Given the description of an element on the screen output the (x, y) to click on. 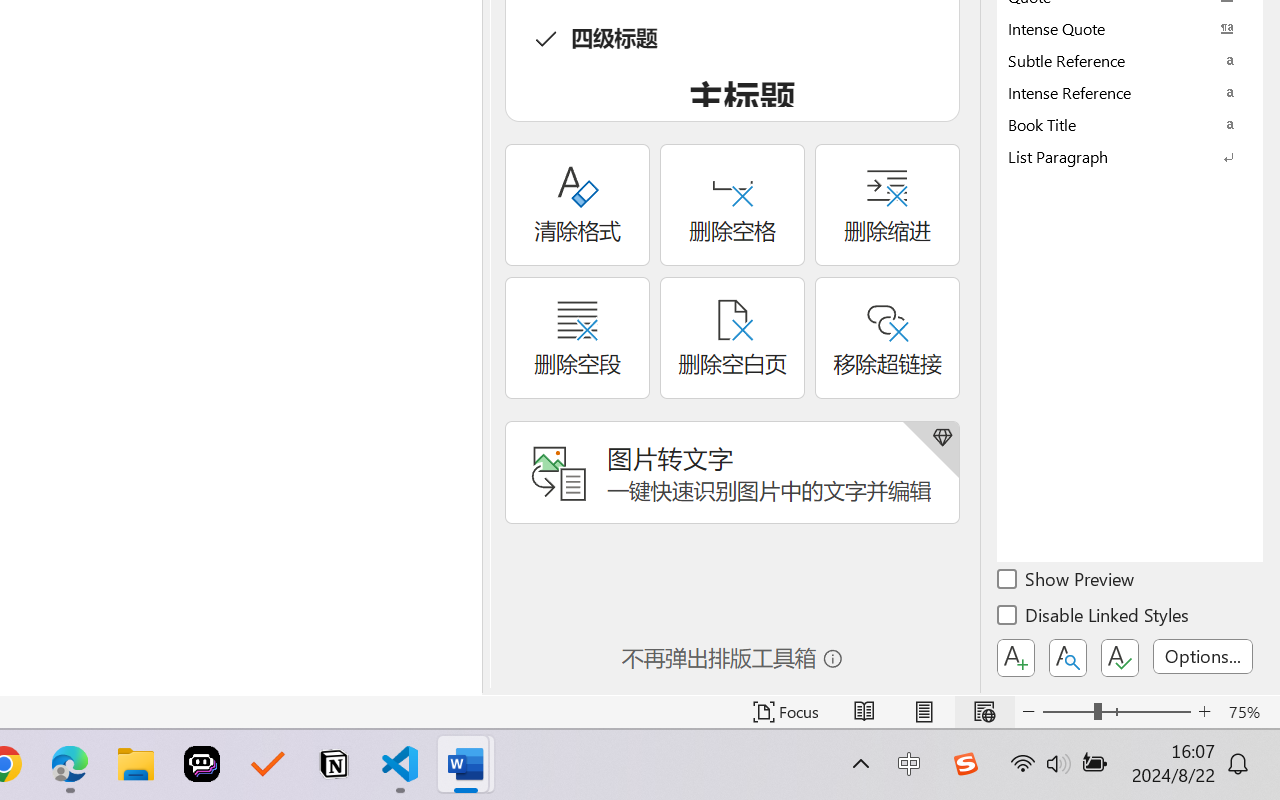
Subtle Reference (1130, 60)
Class: NetUIImage (1116, 156)
Zoom (1116, 712)
Read Mode (864, 712)
Intense Quote (1130, 28)
Class: Image (965, 764)
Zoom Out (1067, 712)
